Given the description of an element on the screen output the (x, y) to click on. 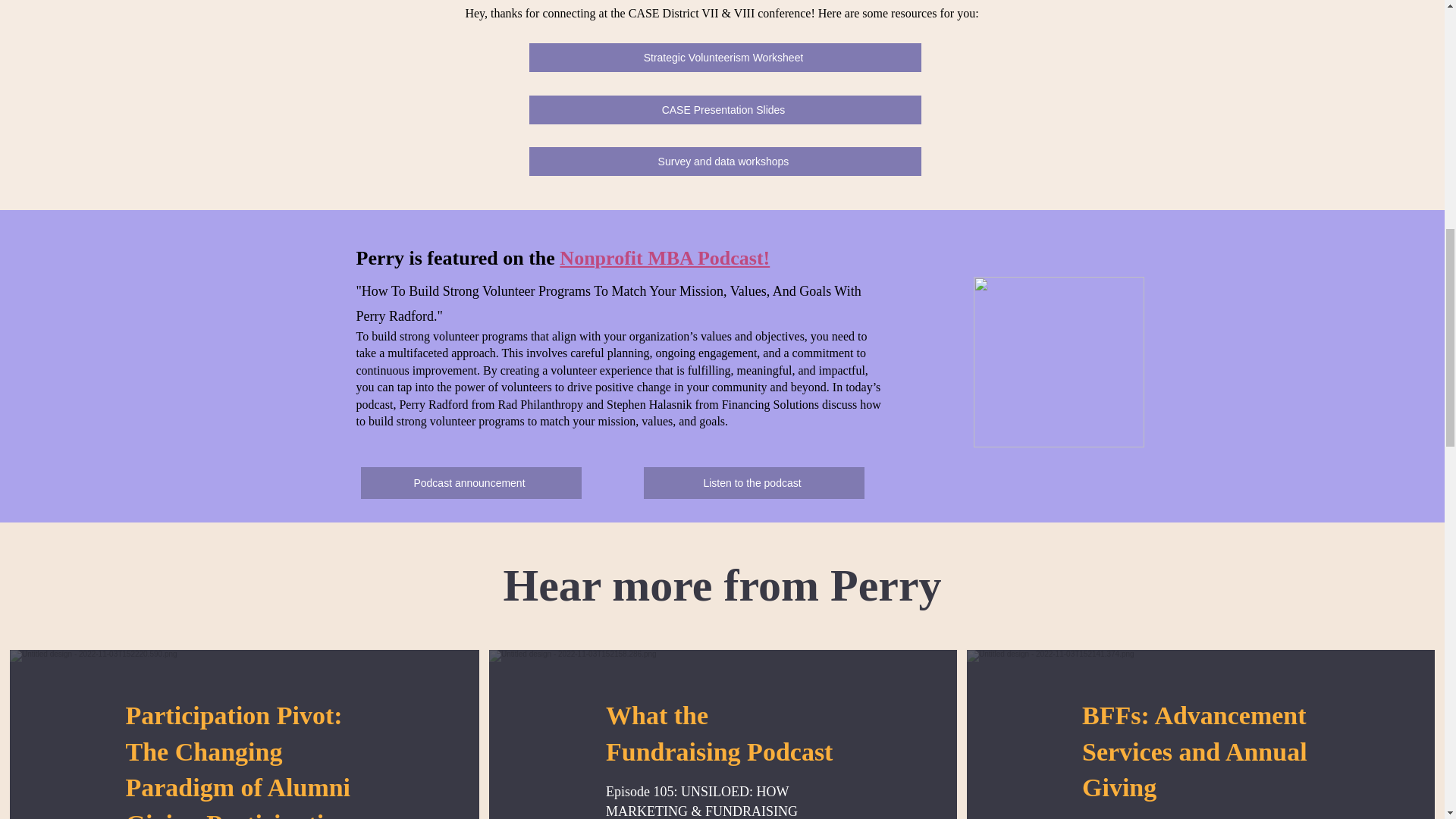
Survey and data workshops (725, 161)
Listen to the podcast (753, 482)
Strategic Volunteerism Worksheet (725, 57)
BFFs: Advancement Services and Annual Giving (1194, 751)
CASE Presentation Slides (725, 109)
Nonprofit MBA Podcast! (664, 258)
mba.jpeg (1059, 361)
Podcast announcement (470, 482)
